Given the description of an element on the screen output the (x, y) to click on. 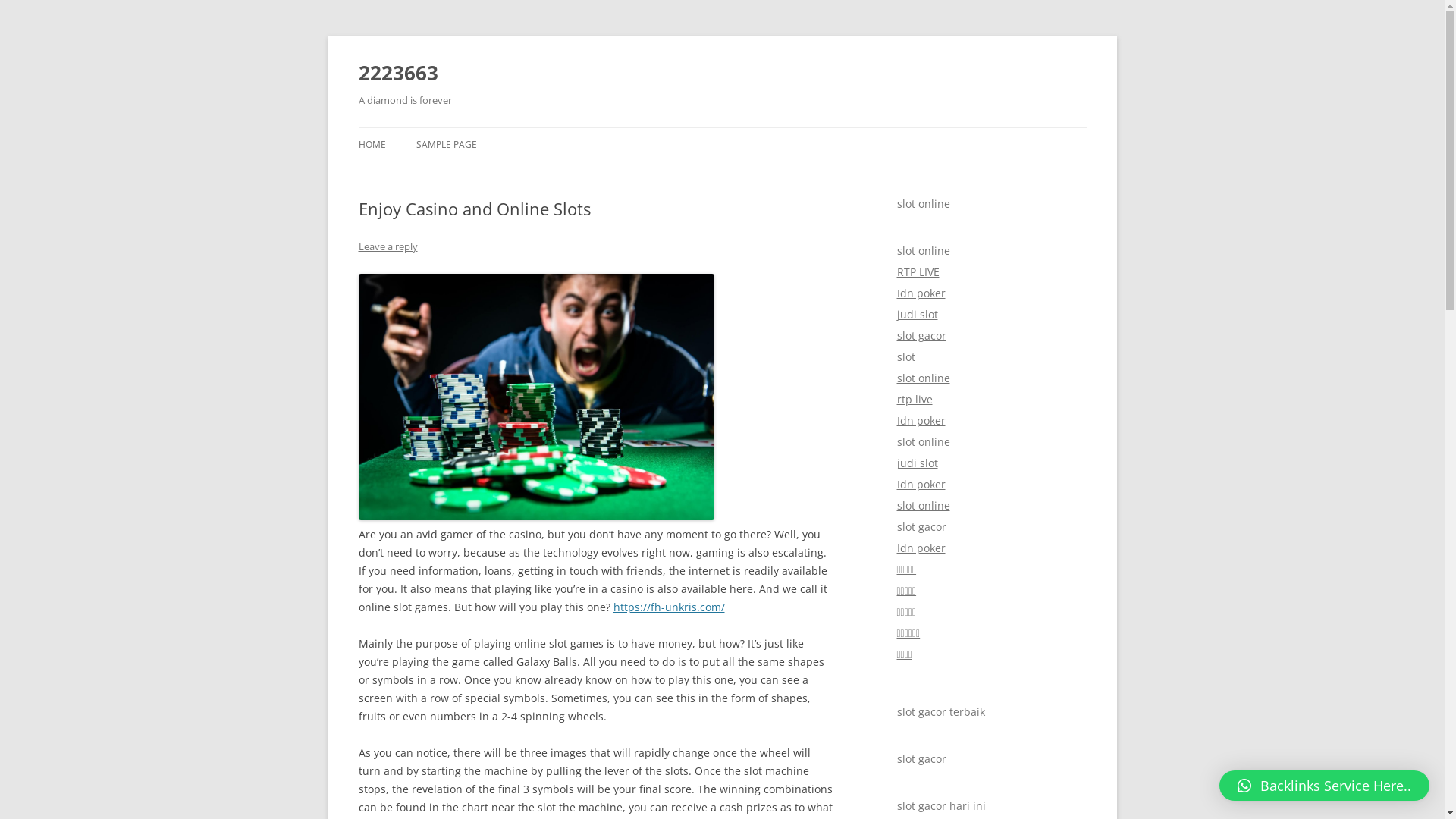
slot online Element type: text (922, 203)
Idn poker Element type: text (920, 547)
slot gacor Element type: text (920, 526)
https://fh-unkris.com/ Element type: text (668, 606)
SAMPLE PAGE Element type: text (445, 144)
Idn poker Element type: text (920, 483)
slot online Element type: text (922, 377)
slot online Element type: text (922, 505)
2223663 Element type: text (397, 72)
judi slot Element type: text (916, 314)
slot Element type: text (905, 356)
slot gacor hari ini Element type: text (940, 805)
HOME Element type: text (371, 144)
slot online Element type: text (922, 441)
slot gacor Element type: text (920, 335)
Idn poker Element type: text (920, 420)
Idn poker Element type: text (920, 292)
RTP LIVE Element type: text (917, 271)
Leave a reply Element type: text (387, 246)
slot gacor terbaik Element type: text (940, 711)
rtp live Element type: text (913, 399)
judi slot Element type: text (916, 462)
Skip to content Element type: text (721, 127)
slot gacor Element type: text (920, 758)
slot online Element type: text (922, 250)
Backlinks Service Here.. Element type: text (1324, 785)
